Given the description of an element on the screen output the (x, y) to click on. 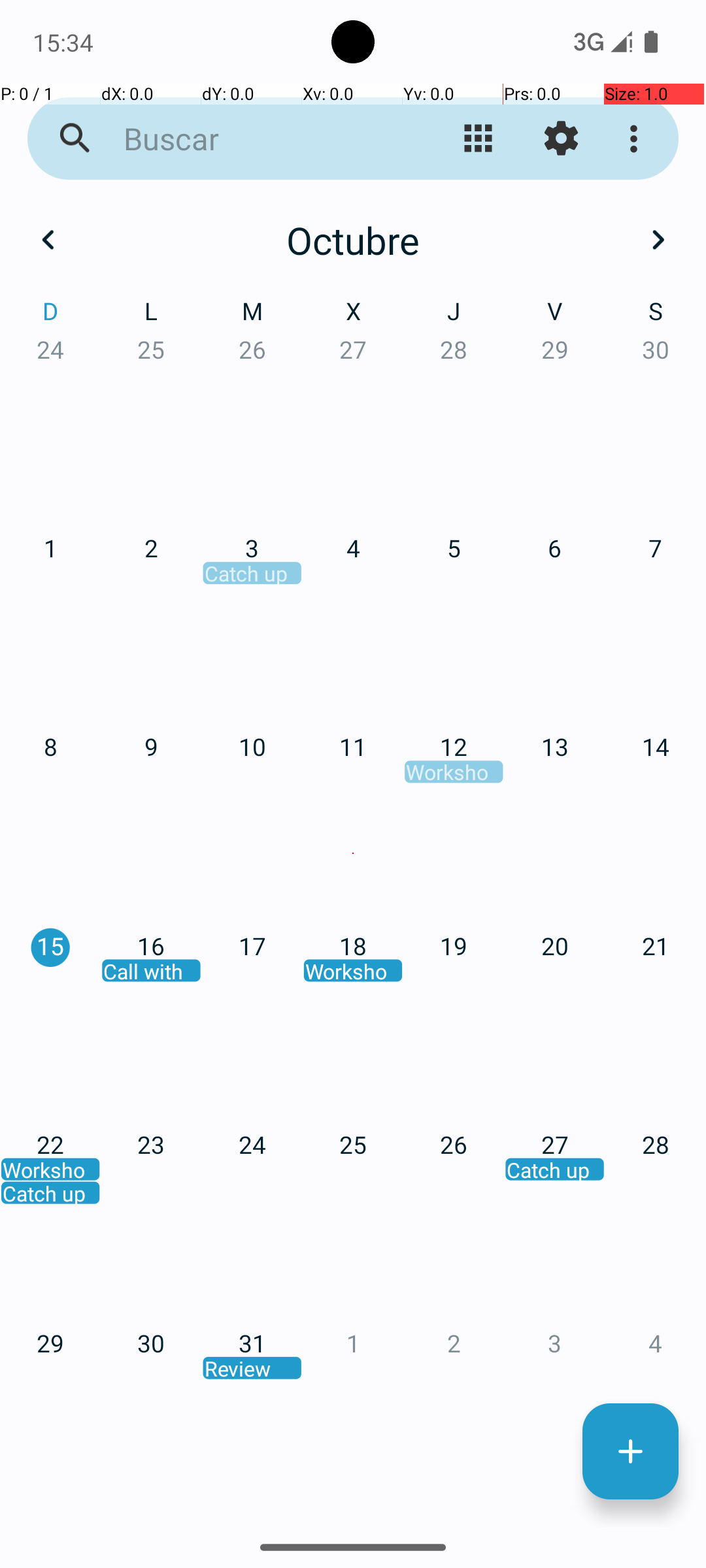
Buscar Element type: android.widget.EditText (252, 138)
Nuevo evento Element type: android.widget.ImageButton (630, 1451)
Octubre Element type: android.widget.TextView (352, 239)
